Given the description of an element on the screen output the (x, y) to click on. 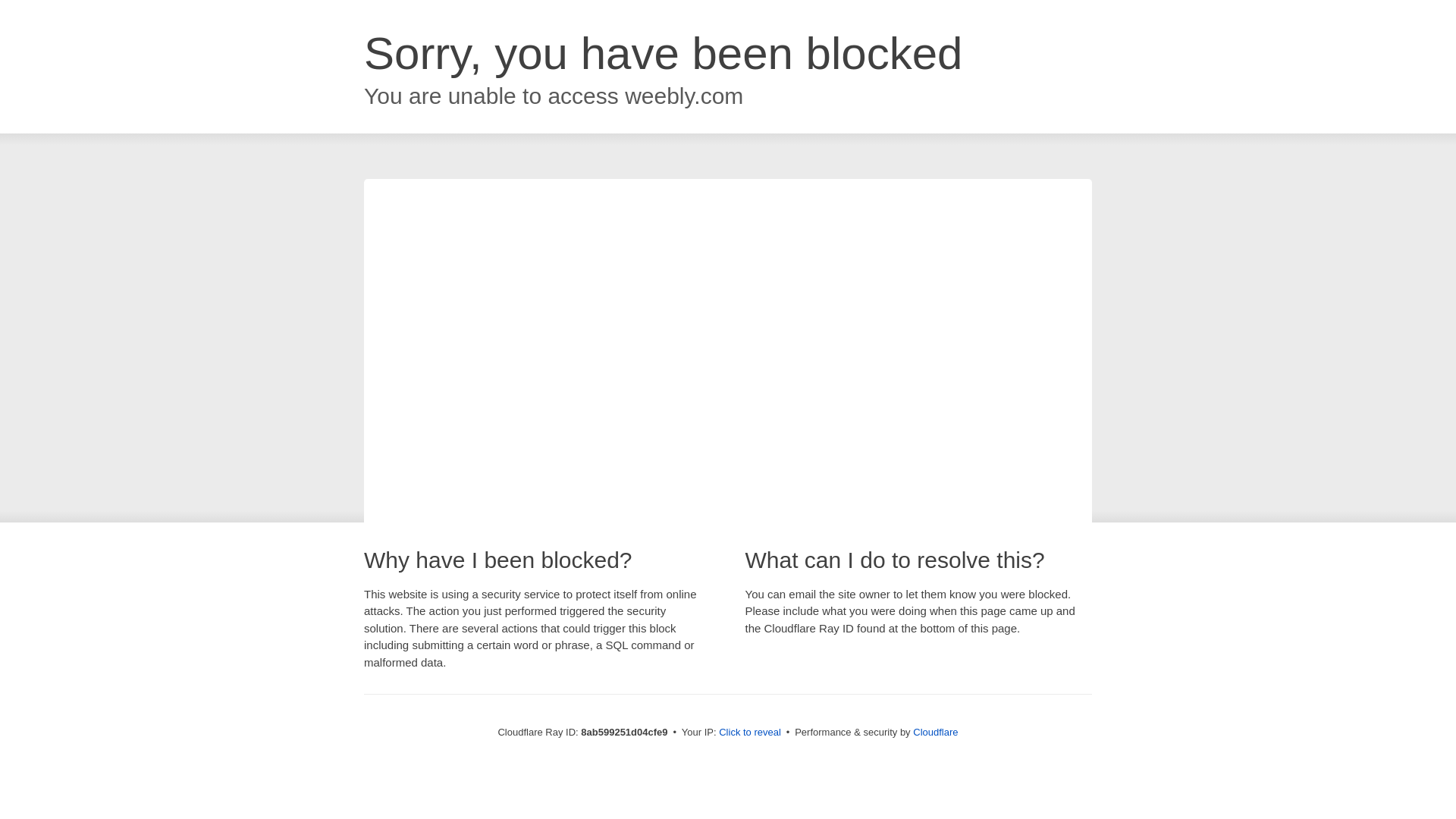
Cloudflare (935, 731)
Click to reveal (749, 732)
